Given the description of an element on the screen output the (x, y) to click on. 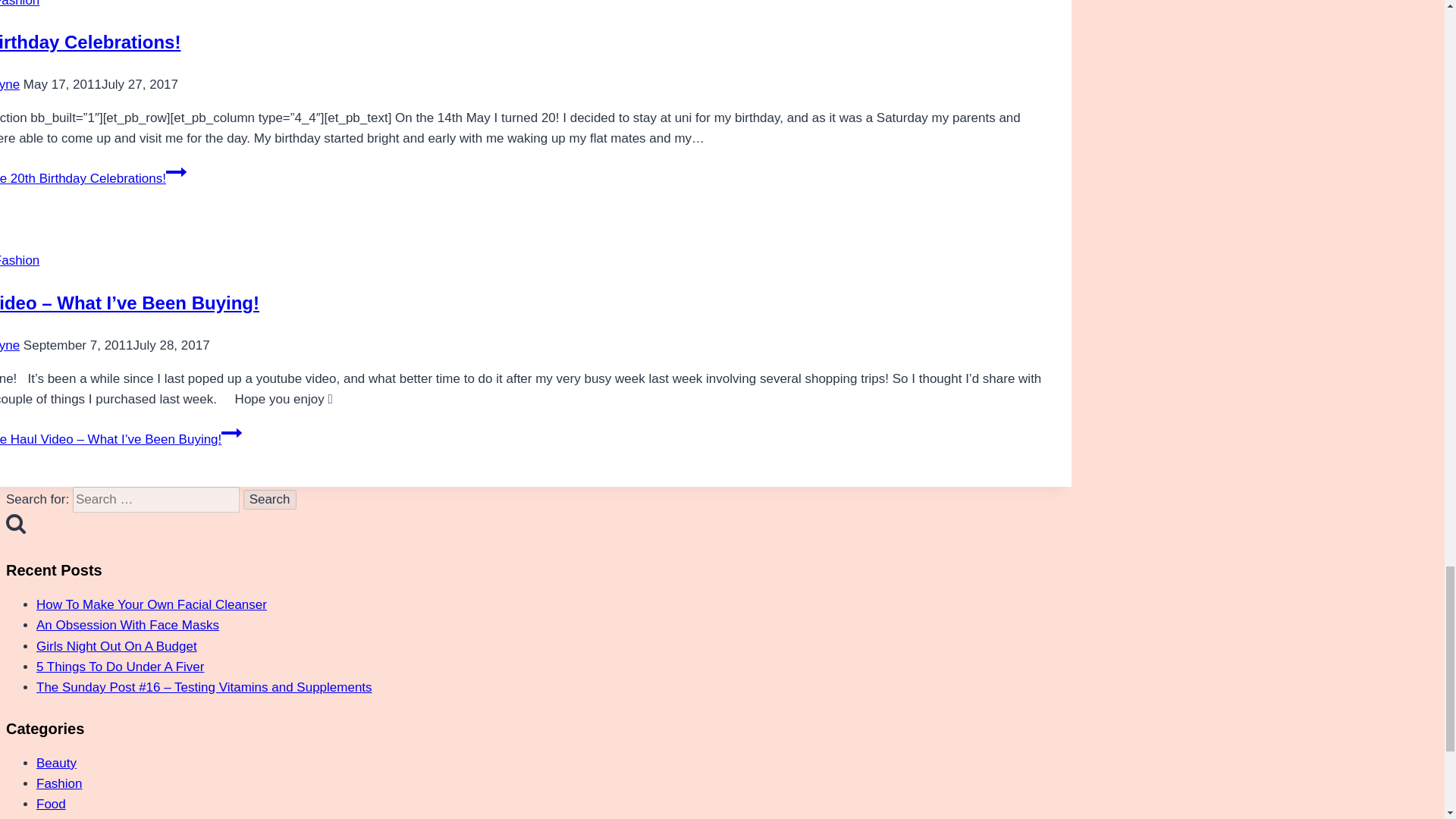
Read More 20th Birthday Celebrations! (93, 178)
Lisa Jayne (10, 83)
Search (270, 499)
Search (270, 499)
Fashion (19, 3)
20th Birthday Celebrations! (90, 41)
Lisa Jayne (10, 345)
Search (270, 499)
Fashion (19, 260)
